Given the description of an element on the screen output the (x, y) to click on. 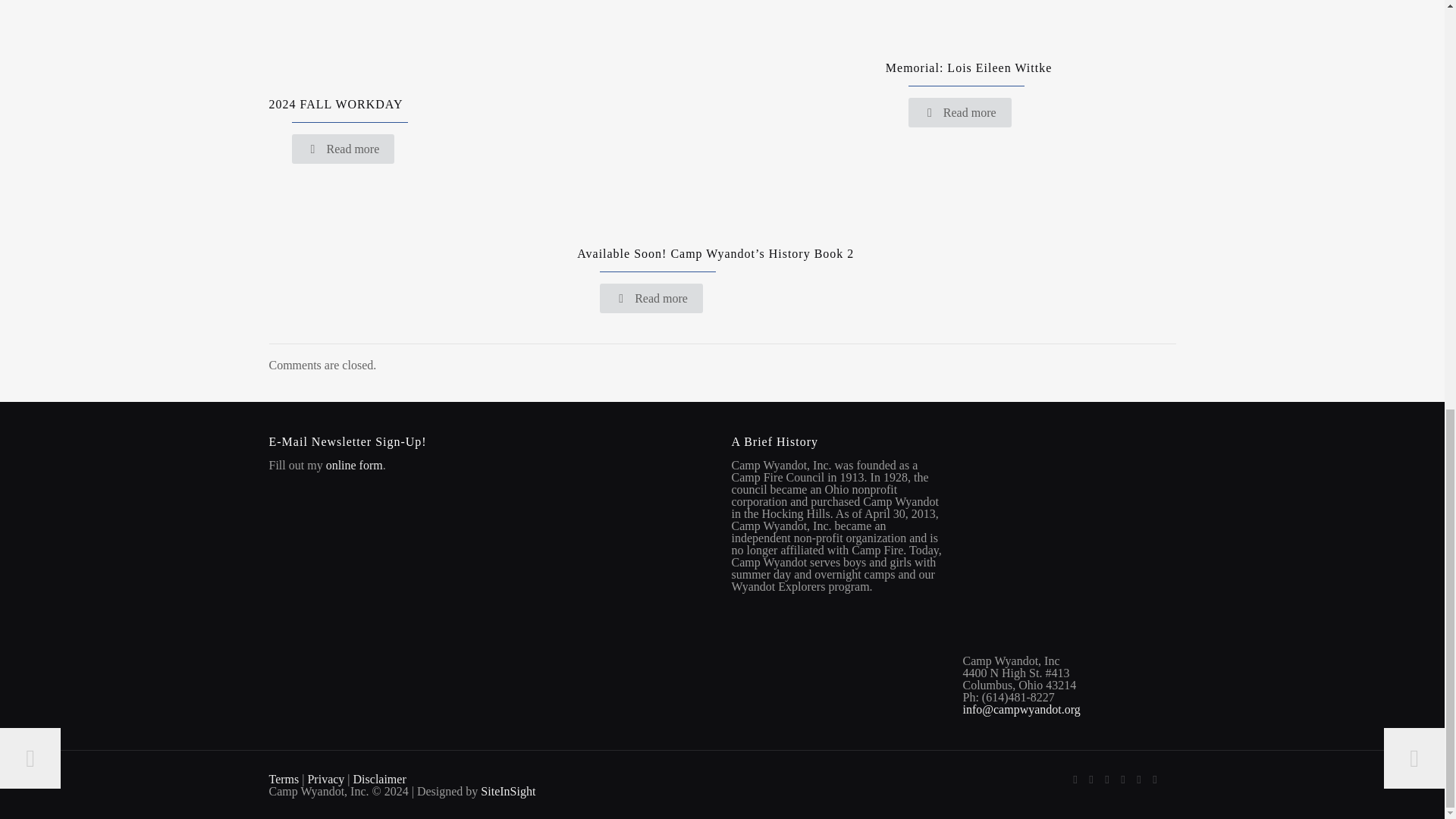
Vimeo (1106, 779)
Facebook (1074, 779)
Flickr (1138, 779)
Instagram (1155, 779)
YouTube (1123, 779)
